Given the description of an element on the screen output the (x, y) to click on. 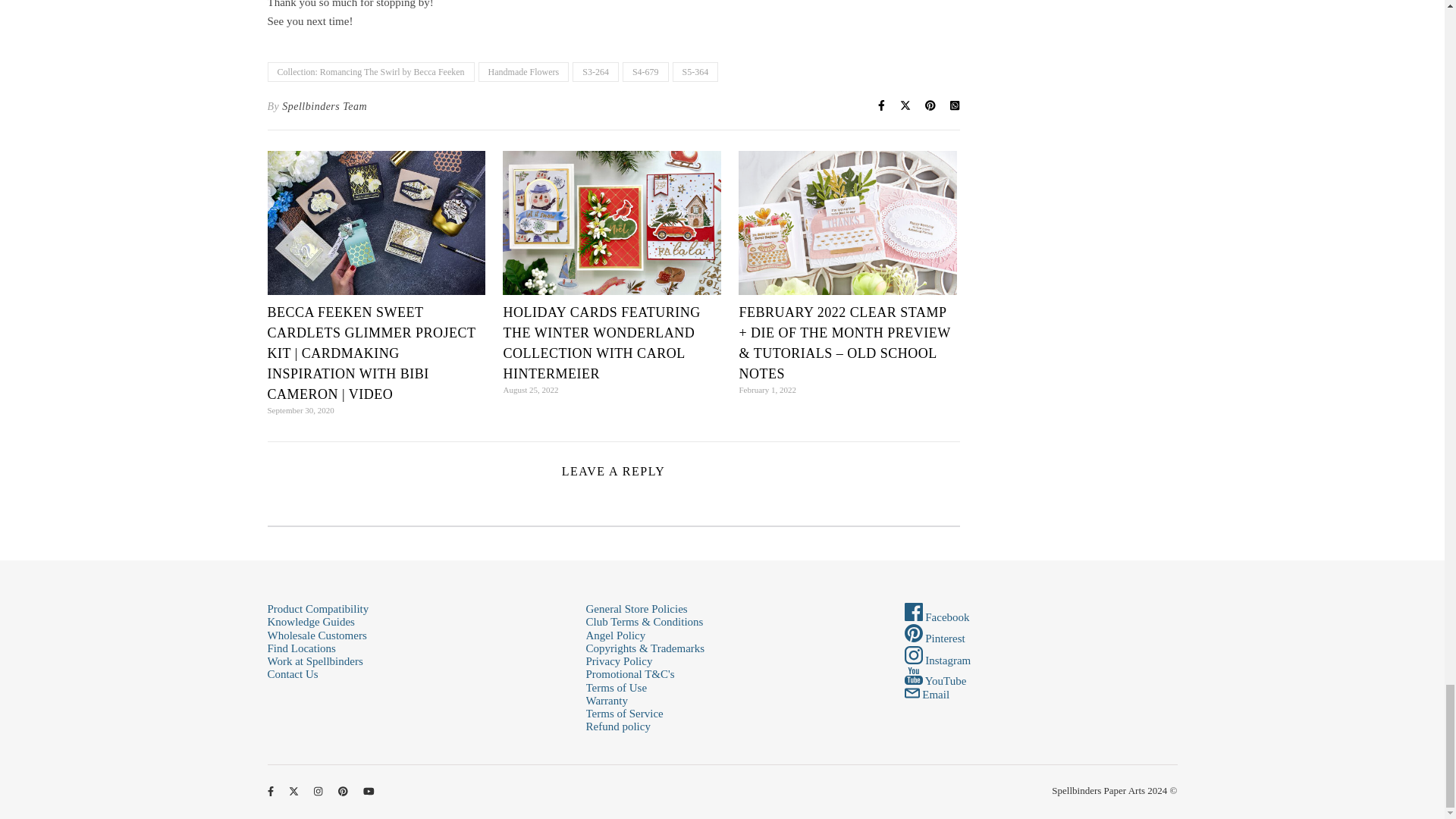
YouTube (935, 680)
Pinterest (933, 638)
Email (926, 694)
Facebook (936, 616)
Instagram (937, 660)
Posts by Spellbinders Team (324, 106)
